Given the description of an element on the screen output the (x, y) to click on. 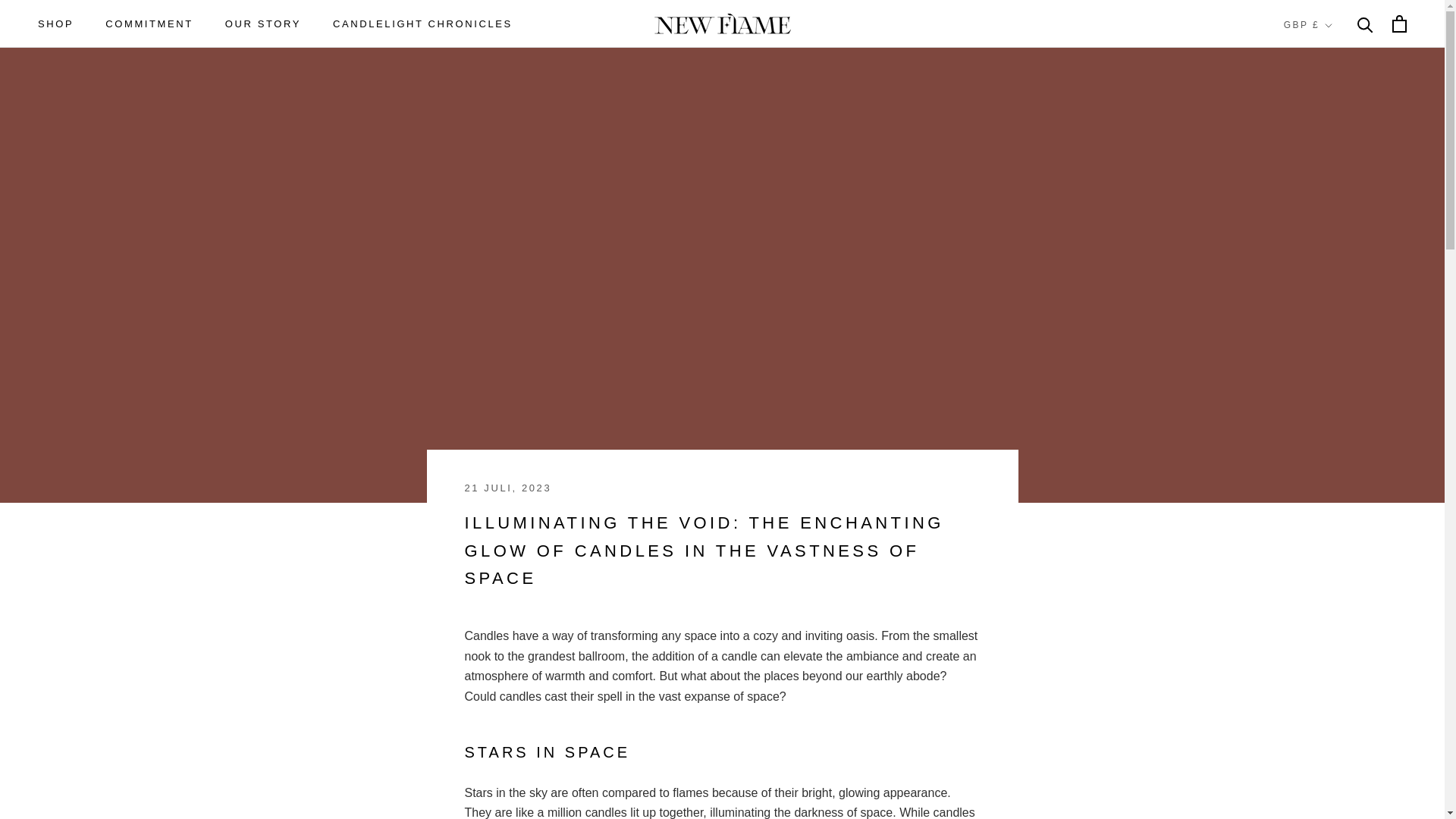
USD (263, 23)
EUR (148, 23)
GBP (422, 23)
